Given the description of an element on the screen output the (x, y) to click on. 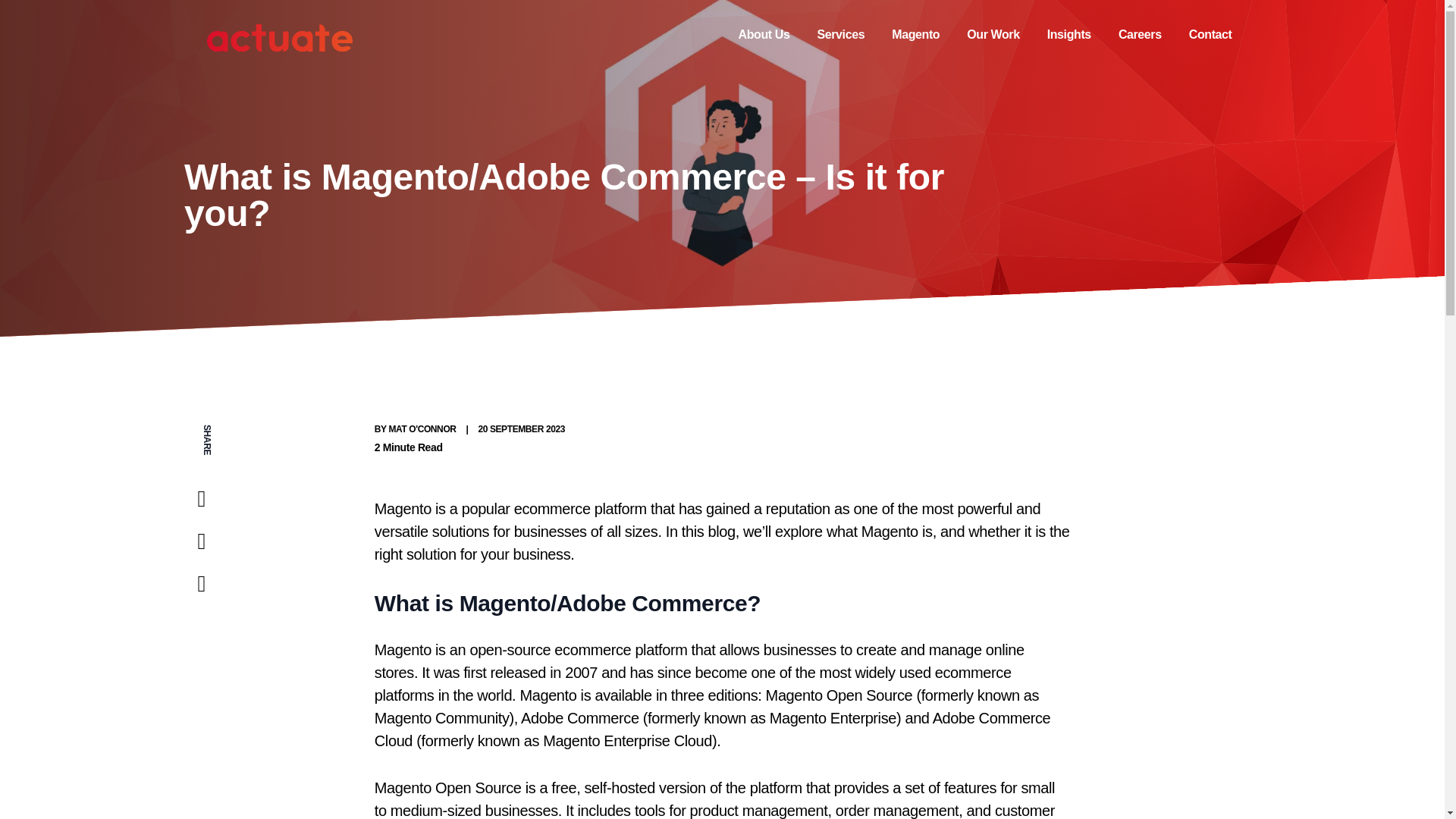
Insights (1068, 30)
Services (840, 30)
Contact (1210, 30)
Our Work (992, 30)
Careers (1139, 30)
Magento (915, 30)
Posts by Mat O'Connor (421, 429)
About Us (764, 30)
MAT O'CONNOR (421, 429)
